Given the description of an element on the screen output the (x, y) to click on. 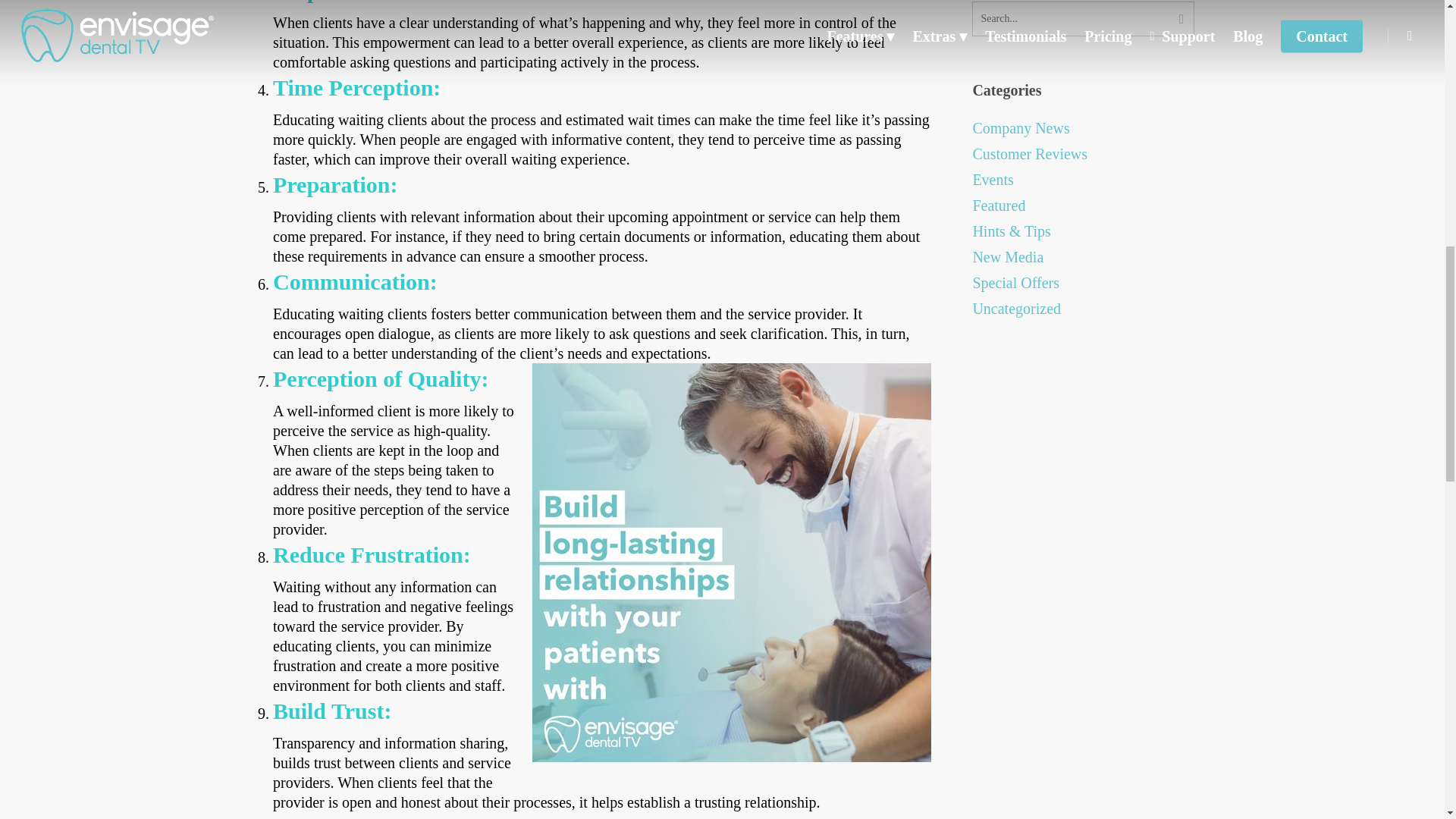
New Media (1082, 256)
Featured (1082, 205)
Events (1082, 179)
Company News (1082, 127)
Search for: (1082, 18)
Customer Reviews (1082, 153)
